Given the description of an element on the screen output the (x, y) to click on. 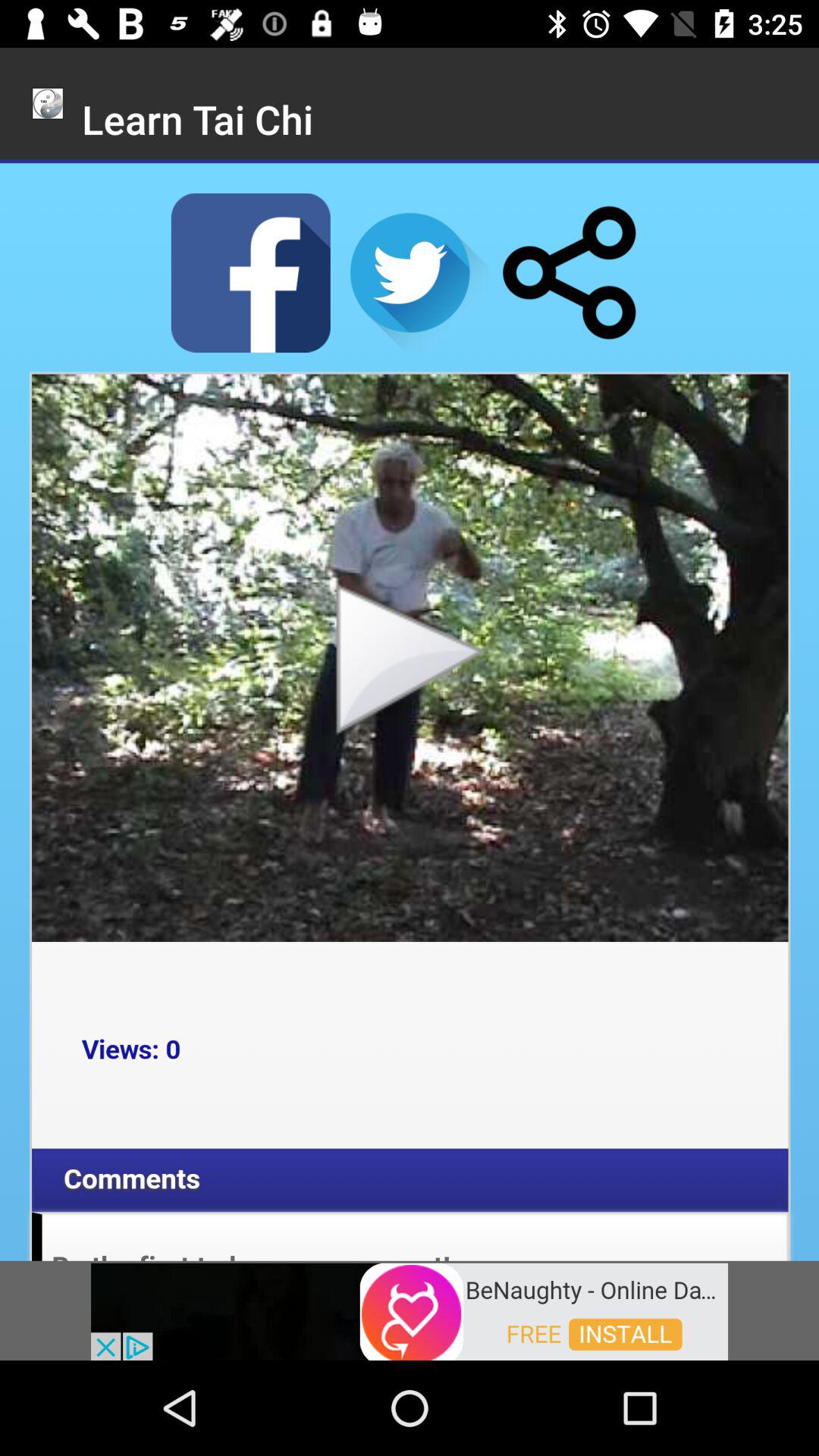
visit advertiser (409, 1310)
